Given the description of an element on the screen output the (x, y) to click on. 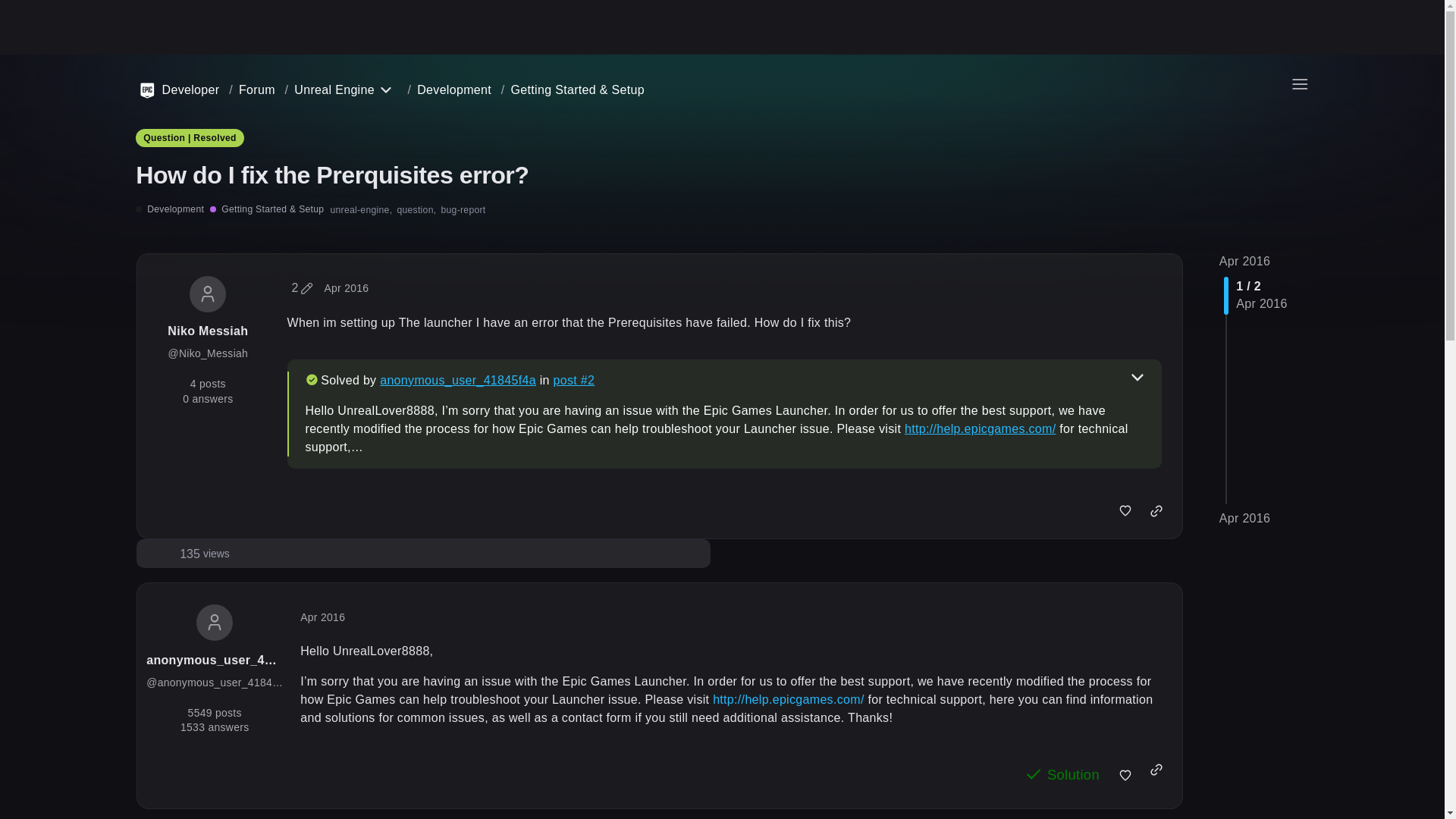
bug-report (462, 210)
question (415, 210)
2 (301, 287)
Niko Messiah (207, 330)
like this post (1125, 510)
Jump to the last post (204, 553)
Apr 2016 (1245, 517)
Unreal Engine (1245, 260)
Post date (334, 90)
